Given the description of an element on the screen output the (x, y) to click on. 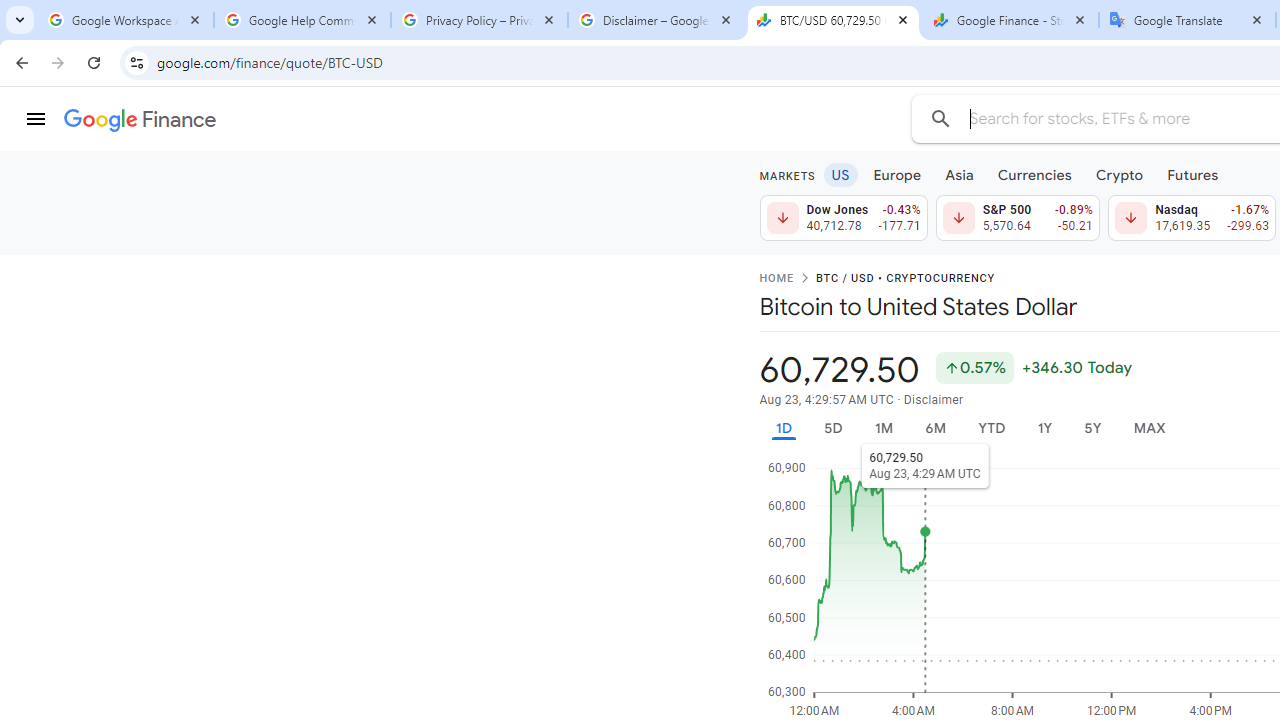
HOME (776, 279)
YTD (991, 427)
Dow Jones 40,712.78 Down by 0.43% -177.71 (843, 218)
US (840, 174)
Disclaimer (932, 399)
